Given the description of an element on the screen output the (x, y) to click on. 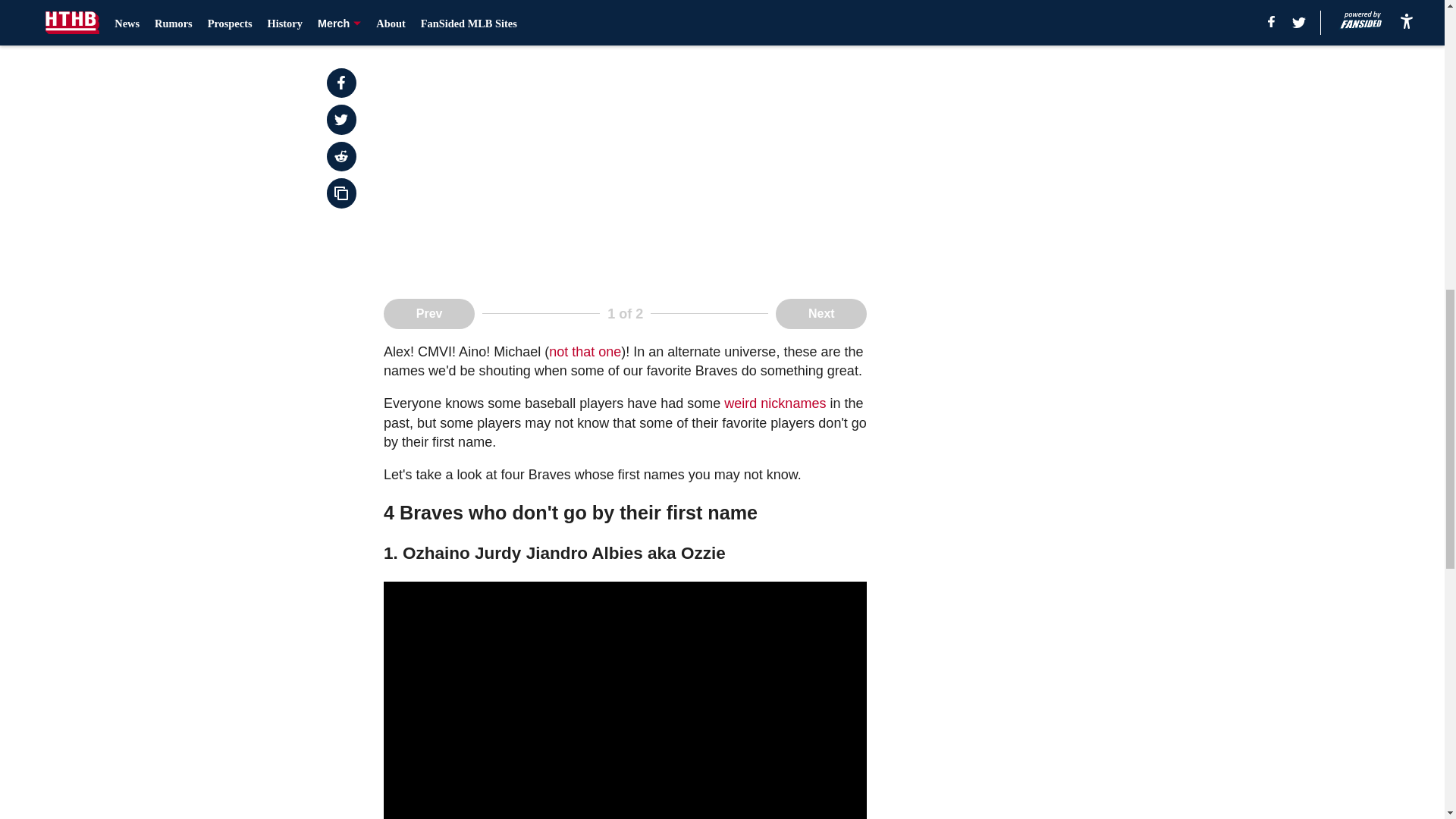
Prev (429, 313)
Next (821, 313)
weird nicknames (772, 403)
not that one (584, 351)
